Given the description of an element on the screen output the (x, y) to click on. 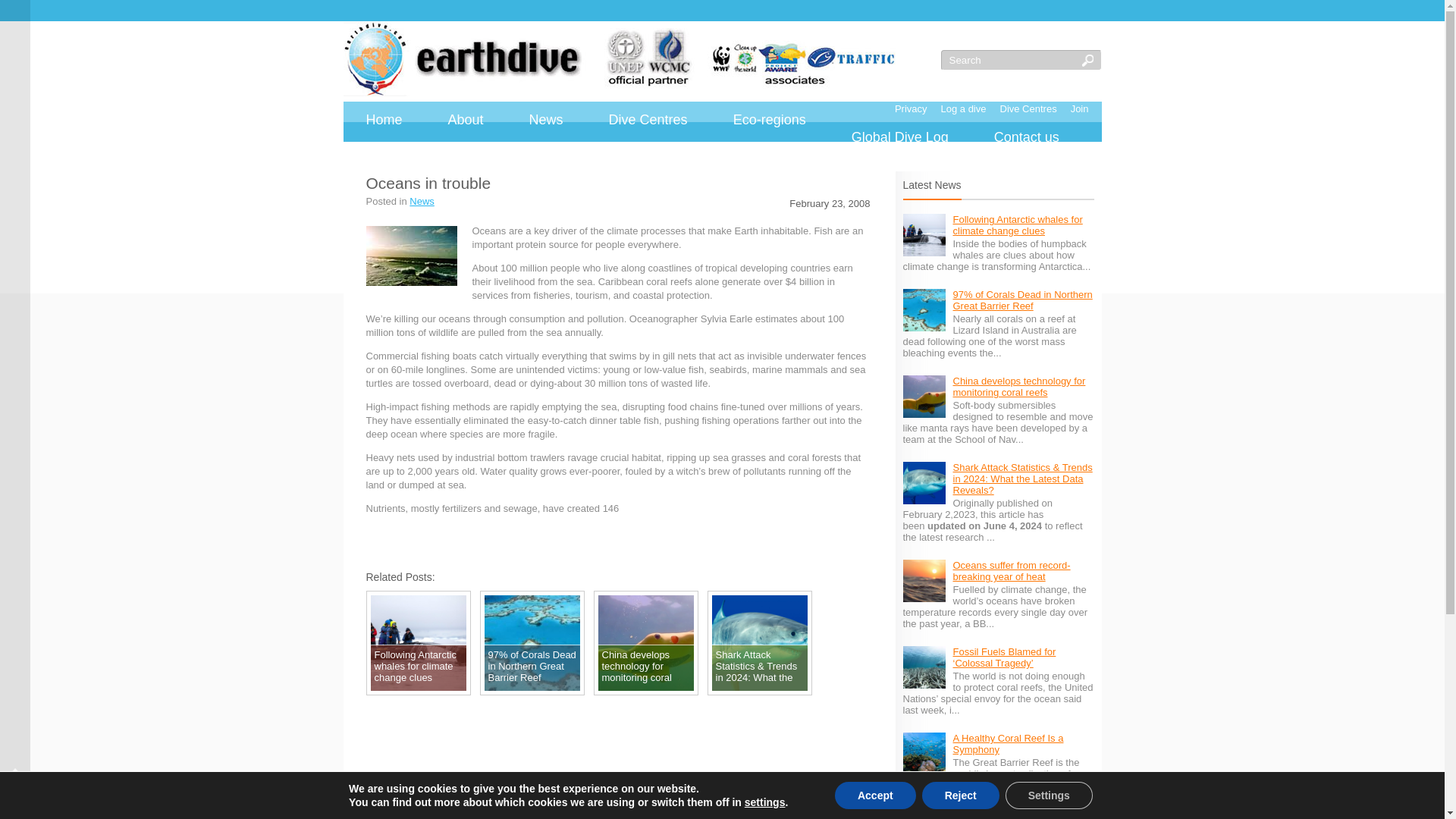
China develops technology for monitoring coral reefs (1018, 386)
About (465, 119)
News (546, 119)
Earthdive (619, 59)
Oceans suffer from record-breaking year of heat (1011, 570)
Following Antarctic whales for climate change clues (1016, 224)
Eco-regions (769, 119)
Search (1010, 59)
Join (1080, 108)
Log a dive (963, 108)
Search (1010, 59)
Dive Centres (1028, 108)
A Healthy Coral Reef Is a Symphony (1007, 743)
Dive Centres (648, 119)
